Given the description of an element on the screen output the (x, y) to click on. 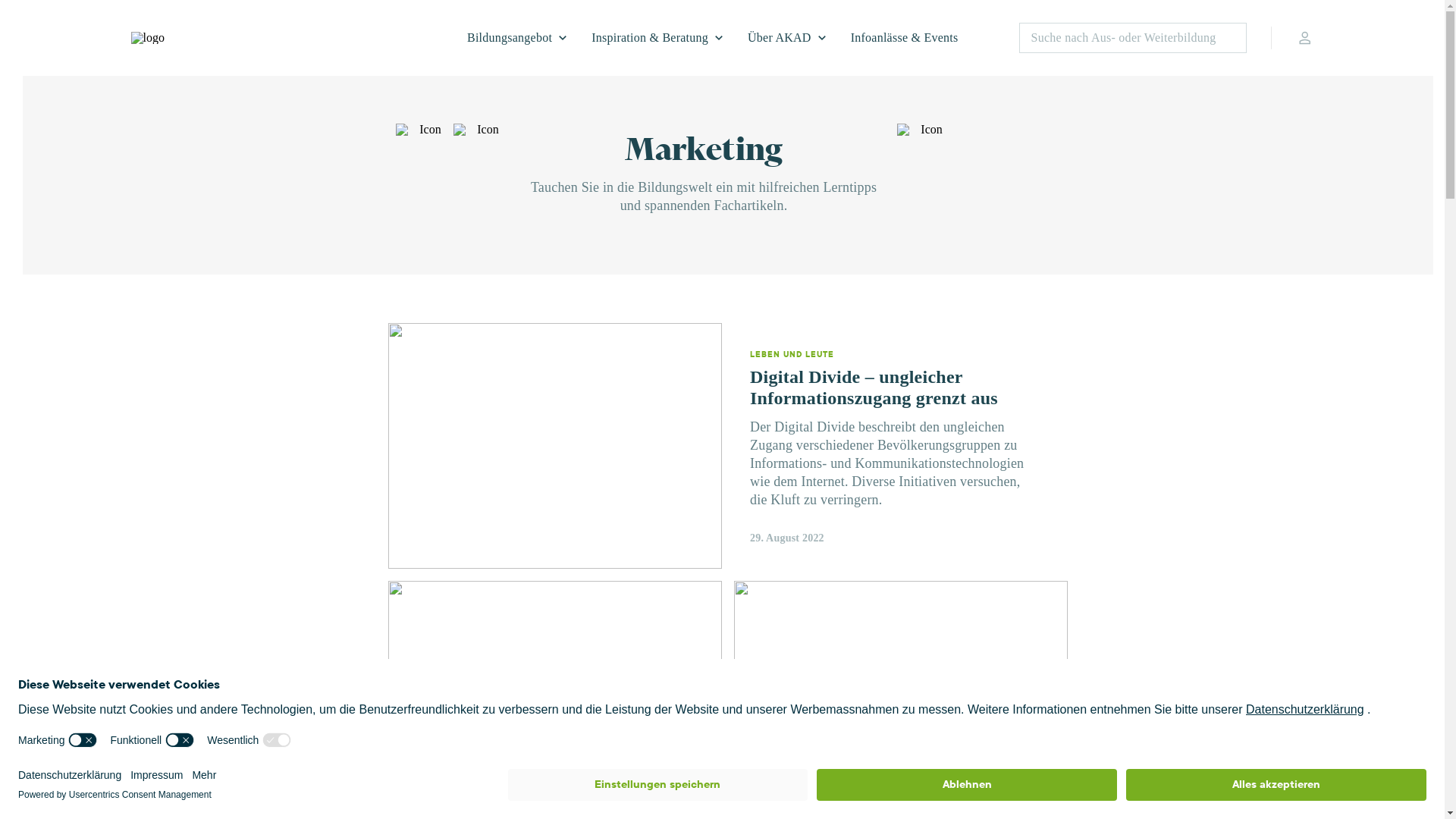
Inspiration & Beratung Element type: text (657, 37)
Bildungsangebot Element type: text (517, 37)
